Given the description of an element on the screen output the (x, y) to click on. 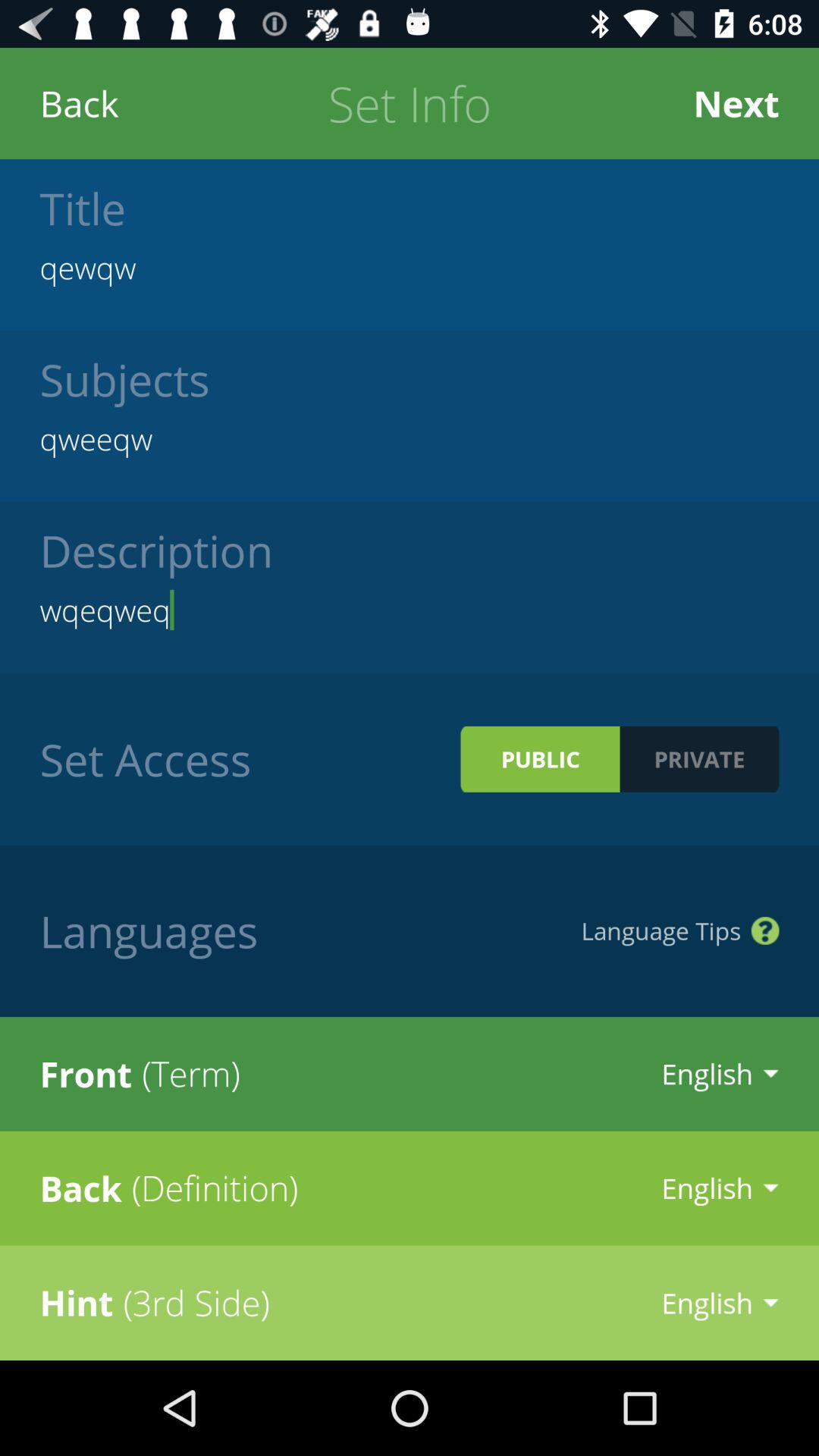
turn on item below the wqeqweq (539, 759)
